Given the description of an element on the screen output the (x, y) to click on. 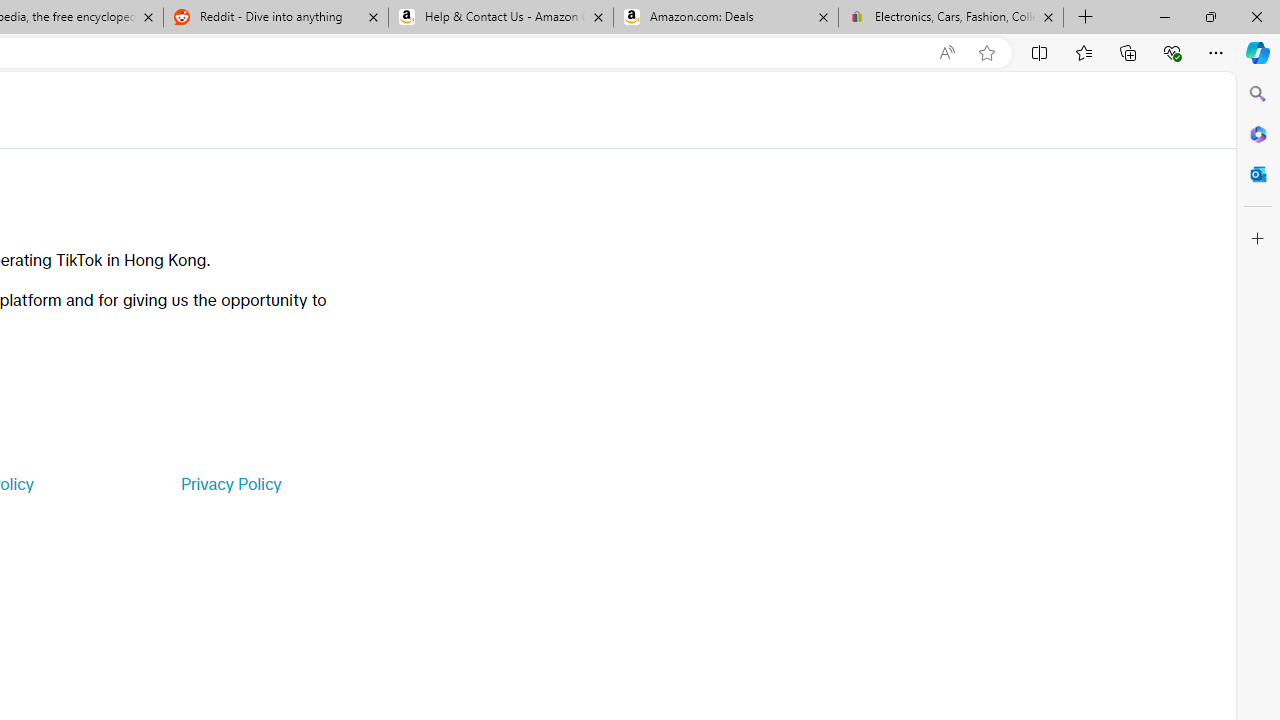
Search (1258, 94)
Amazon.com: Deals (726, 17)
Close (1256, 16)
Electronics, Cars, Fashion, Collectibles & More | eBay (950, 17)
Customize (1258, 239)
Collections (1128, 52)
Favorites (1083, 52)
Split screen (1039, 52)
Minimize (1164, 16)
Close tab (1048, 16)
Microsoft 365 (1258, 133)
Settings and more (Alt+F) (1215, 52)
New Tab (1085, 17)
Privacy Policy (230, 484)
Help & Contact Us - Amazon Customer Service (501, 17)
